Given the description of an element on the screen output the (x, y) to click on. 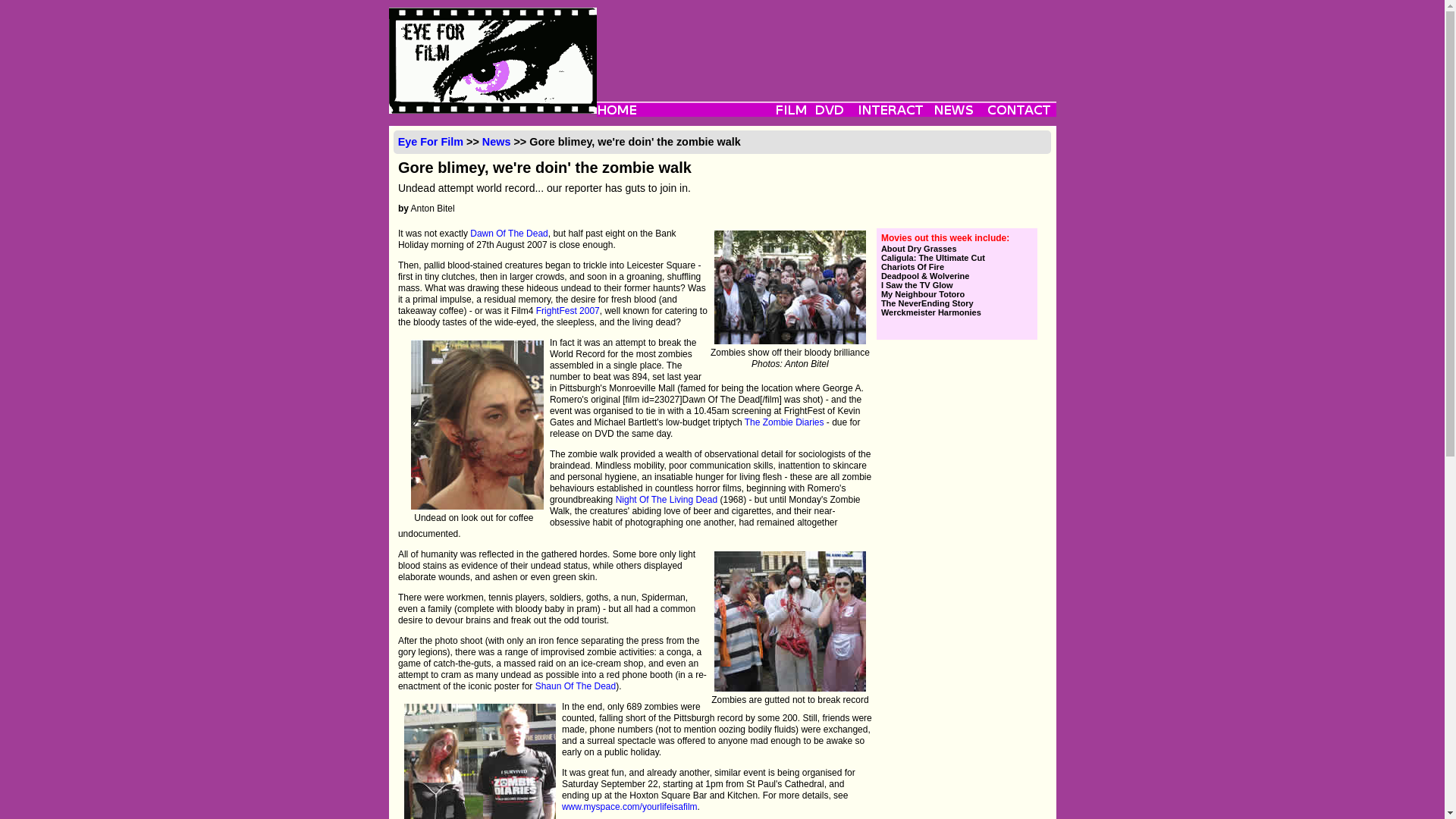
Dawn Of The Dead (509, 233)
Chariots Of Fire (956, 266)
Eye For Film (430, 141)
Night Of The Living Dead (666, 499)
FrightFest 2007 (567, 310)
The Zombie Diaries (784, 421)
News (496, 141)
About Dry Grasses (956, 248)
Caligula: The Ultimate Cut (956, 257)
Shaun Of The Dead (575, 685)
